Given the description of an element on the screen output the (x, y) to click on. 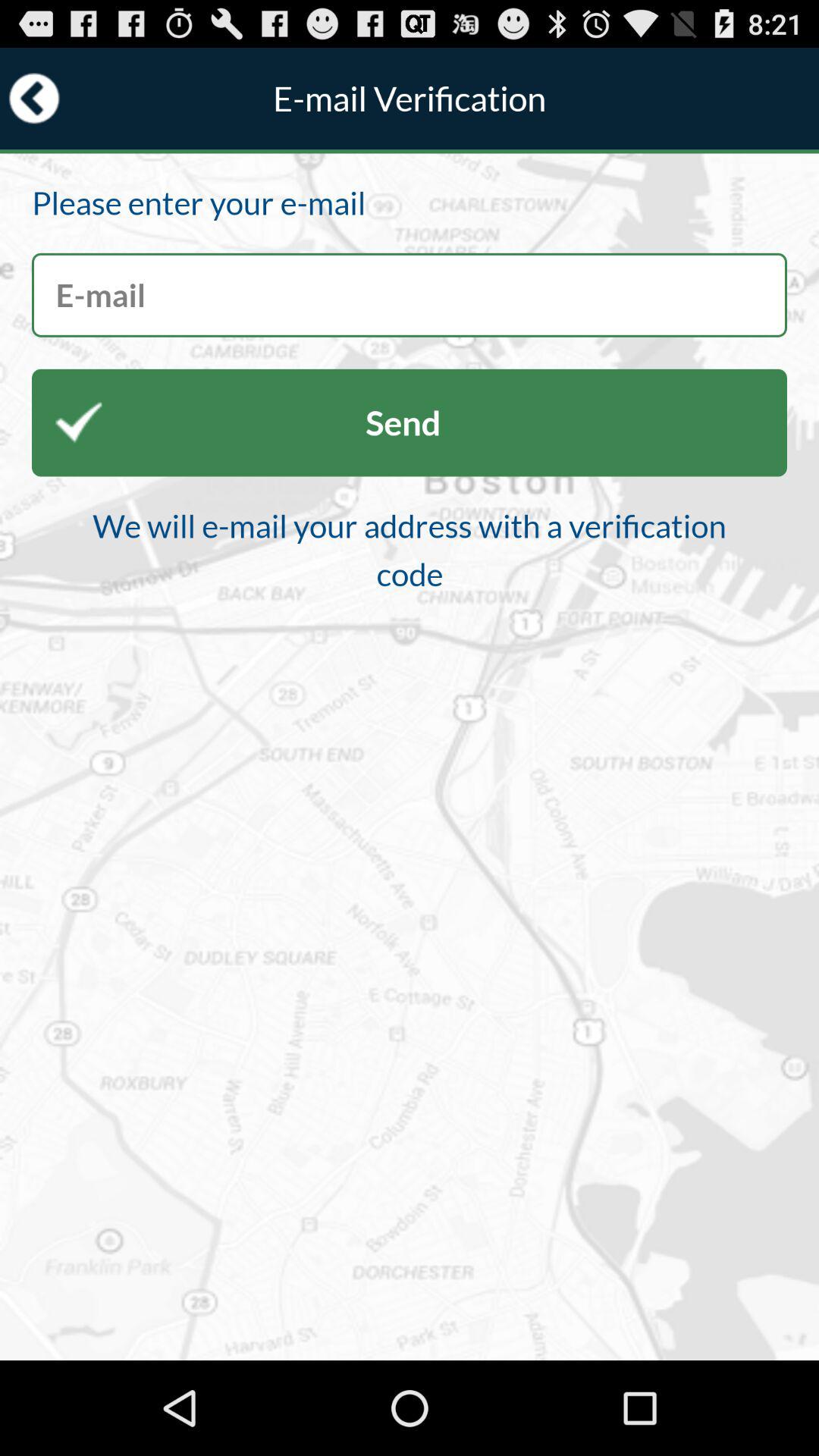
enter the mail id using (409, 295)
